Given the description of an element on the screen output the (x, y) to click on. 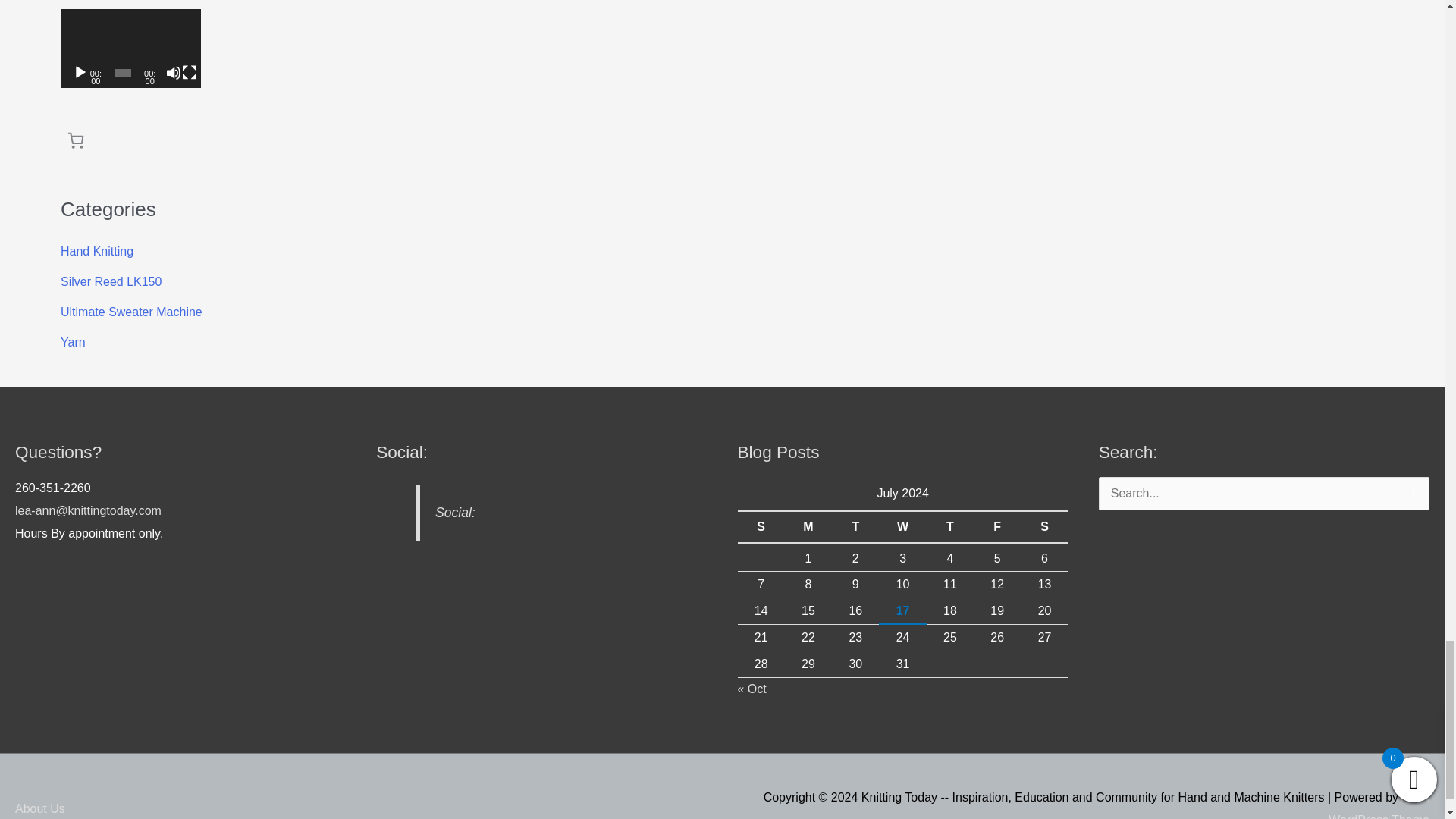
Social: (455, 512)
Fullscreen (189, 72)
Yarn (73, 341)
Hand Knitting (97, 250)
Astra WordPress Theme (1378, 805)
Social: (401, 452)
Play (79, 72)
About Us (45, 808)
Silver Reed LK150 (111, 281)
Monday (807, 526)
Wednesday (902, 526)
Ultimate Sweater Machine (131, 311)
Tuesday (855, 526)
Thursday (950, 526)
Sunday (760, 526)
